Given the description of an element on the screen output the (x, y) to click on. 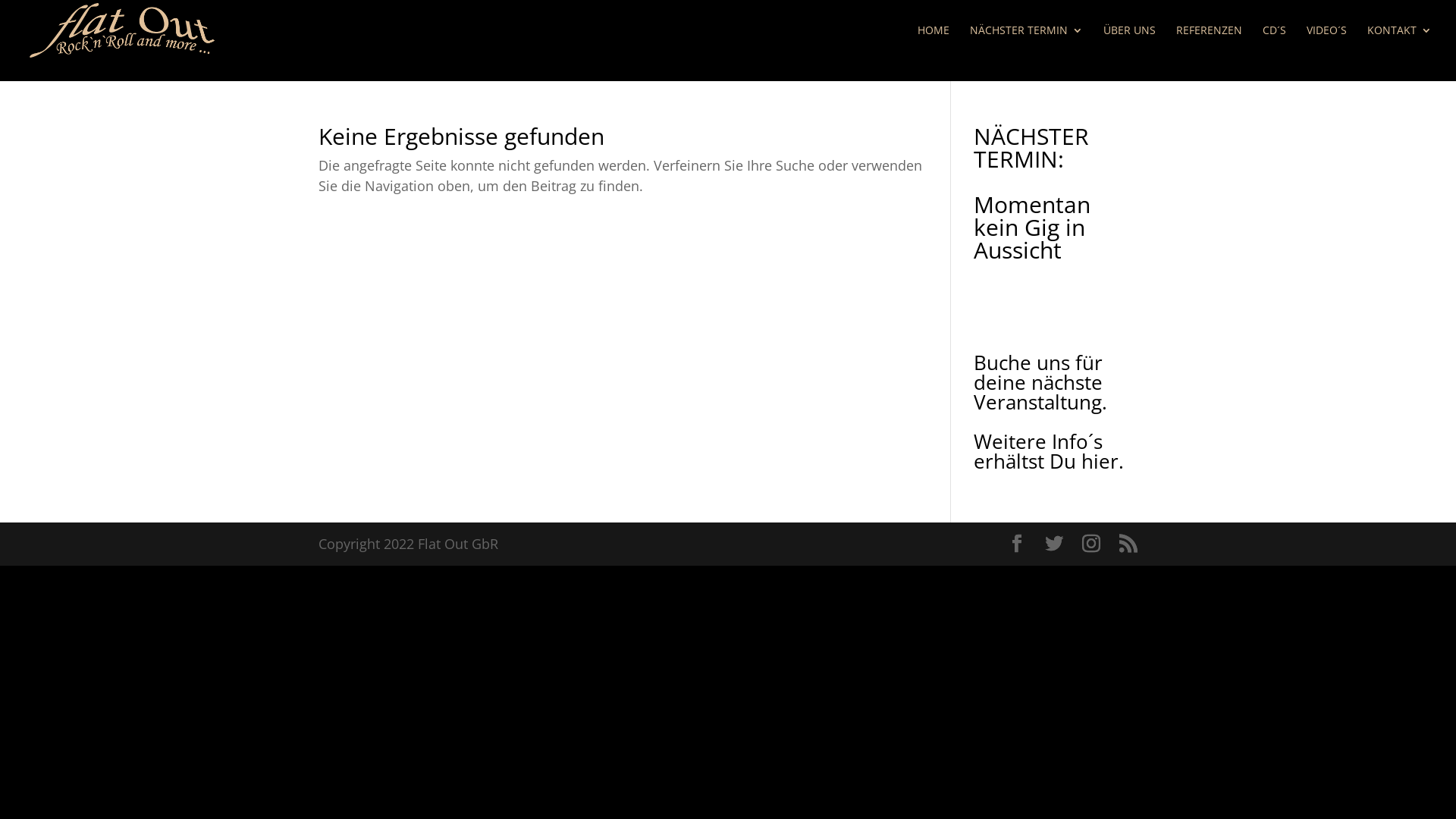
naechstertermin Element type: text (52, 9)
HOME Element type: text (933, 42)
termine Element type: text (307, 9)
cd Element type: text (180, 9)
video Element type: text (209, 9)
ueberuns Element type: text (139, 9)
KONTAKT Element type: text (1399, 42)
REFERENZEN Element type: text (1209, 42)
kontakt Element type: text (254, 9)
